Given the description of an element on the screen output the (x, y) to click on. 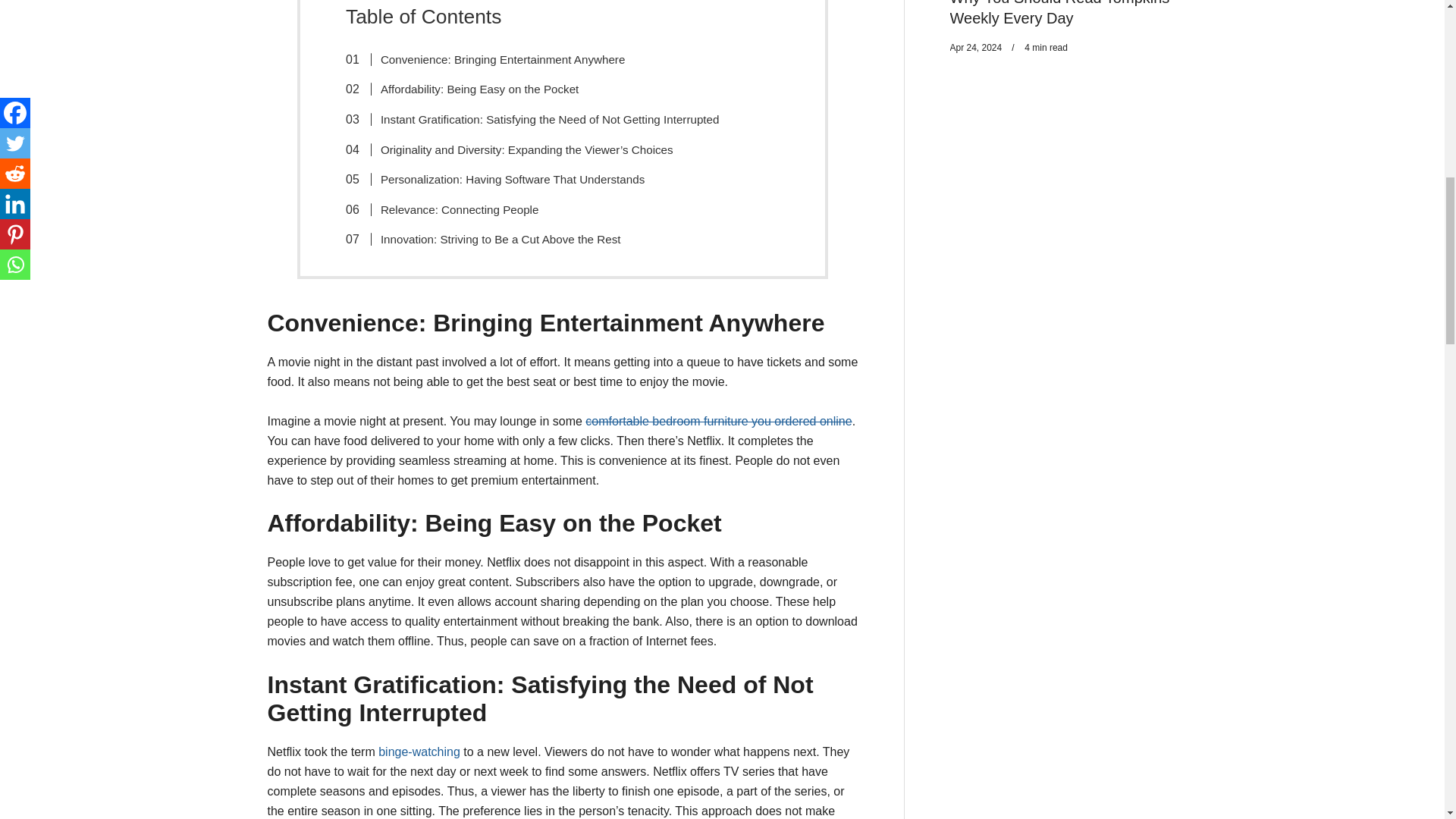
Affordability: Being Easy on the Pocket (470, 82)
Convenience: Bringing Entertainment Anywhere (493, 52)
binge-watching (419, 751)
comfortable bedroom furniture you ordered online (718, 420)
Innovation: Striving to Be a Cut Above the Rest (491, 236)
Relevance: Connecting People (449, 205)
Personalization: Having Software That Understands (503, 175)
